Given the description of an element on the screen output the (x, y) to click on. 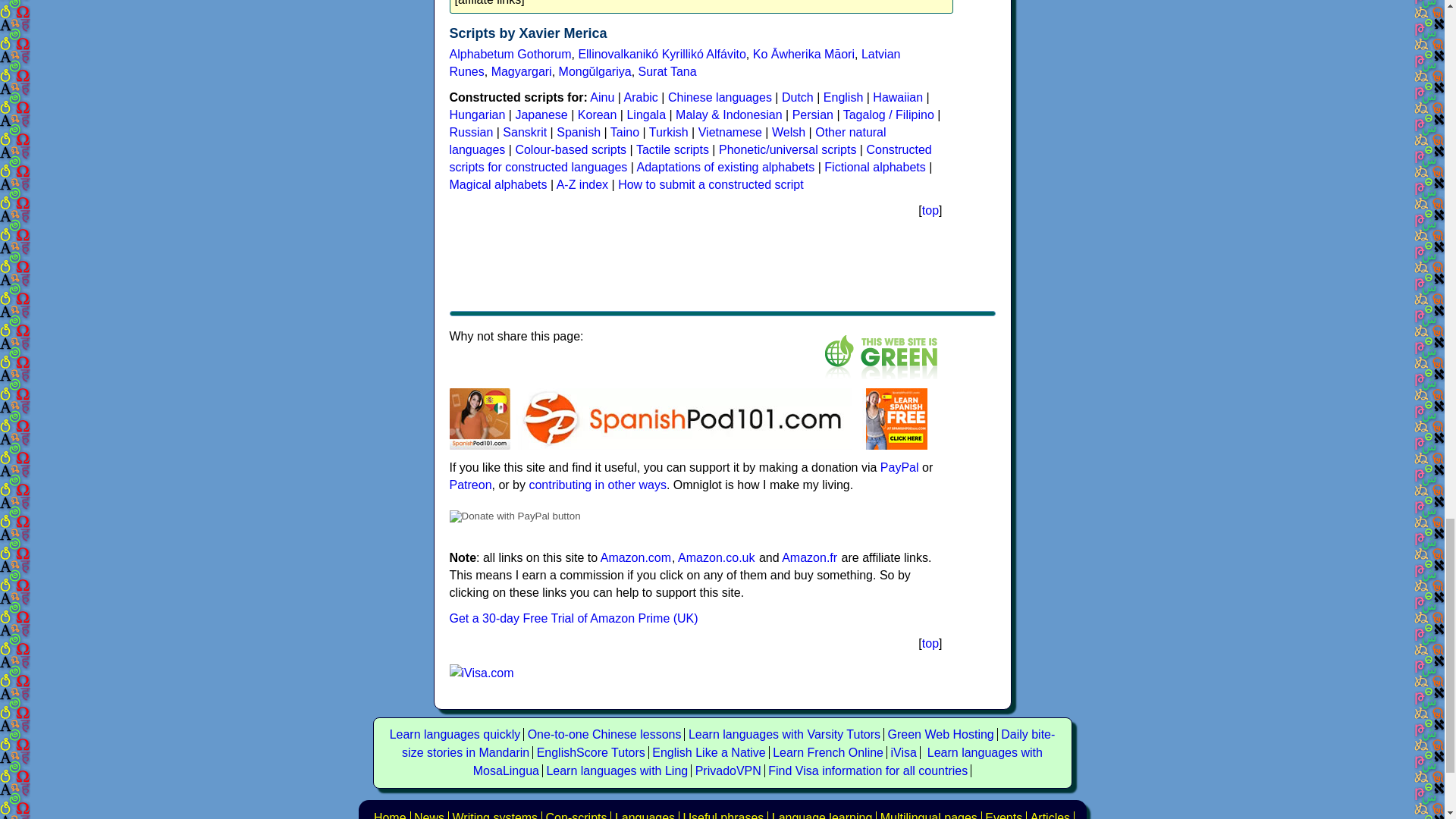
PayPal - The safer, easier way to pay online! (513, 516)
Arabic (641, 97)
Ainu (601, 97)
Writing systems invented by visitors to Omniglot (576, 815)
Dutch (797, 97)
English (843, 97)
Language names in their own scripts and languages (928, 815)
Chinese languages (719, 97)
